Given the description of an element on the screen output the (x, y) to click on. 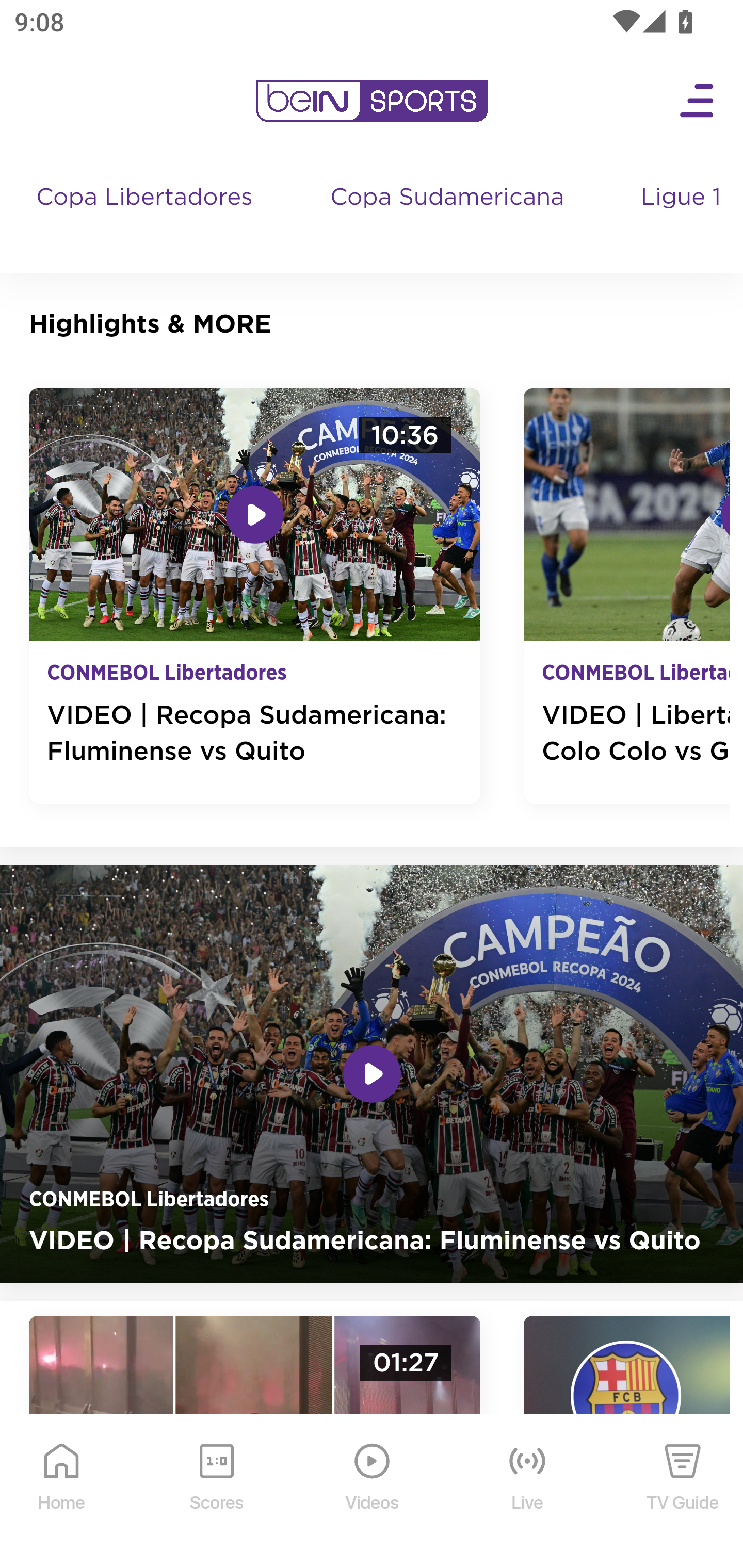
en-us?platform=mobile_android bein logo (371, 101)
Open Menu Icon (697, 101)
Copa Libertadores (146, 216)
Copa Sudamericana (448, 216)
Ligue 1 (682, 216)
Home Home Icon Home (61, 1491)
Scores Scores Icon Scores (216, 1491)
Videos Videos Icon Videos (372, 1491)
TV Guide TV Guide Icon TV Guide (682, 1491)
